Given the description of an element on the screen output the (x, y) to click on. 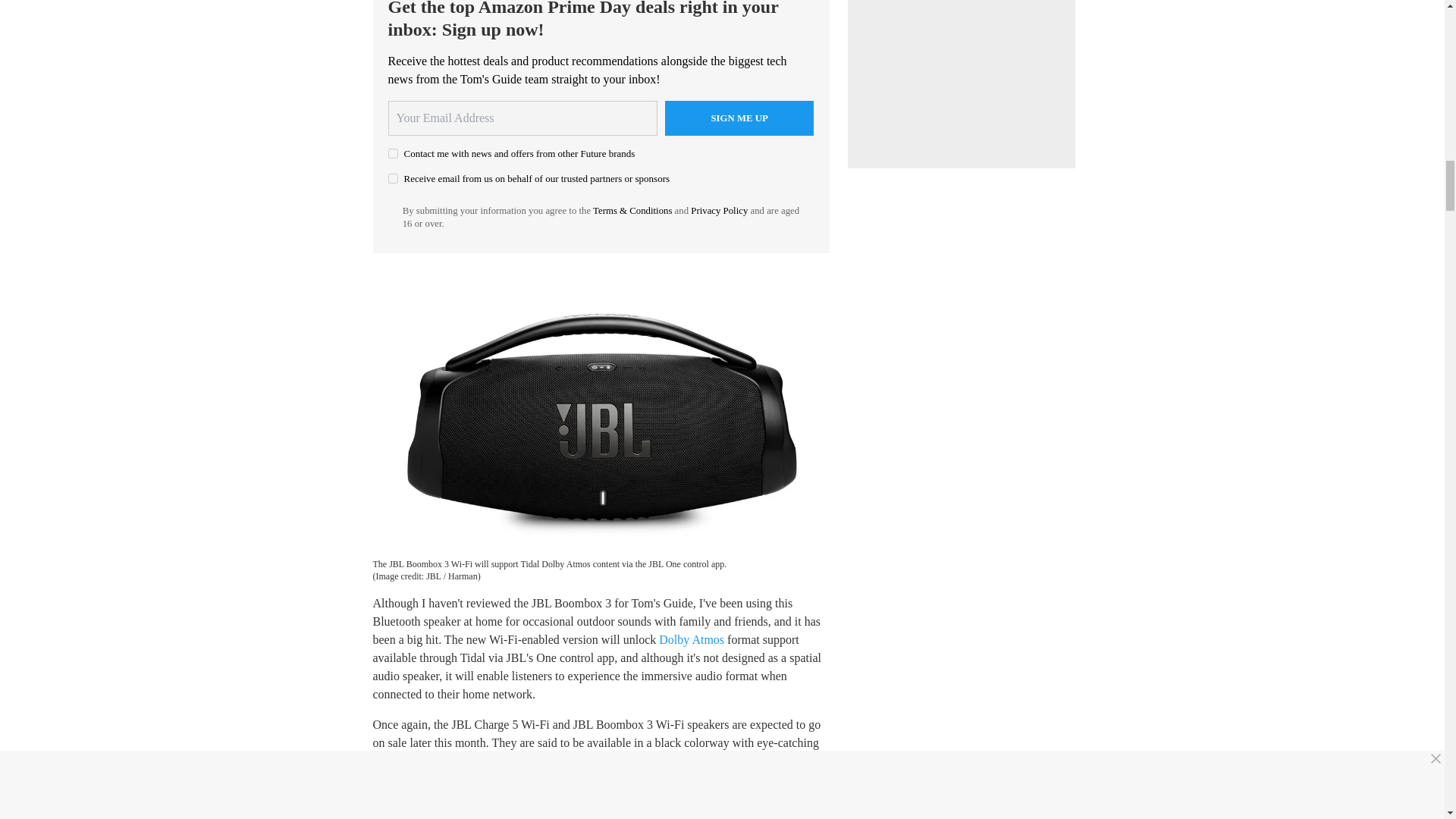
Sign me up (739, 117)
on (392, 178)
on (392, 153)
